Given the description of an element on the screen output the (x, y) to click on. 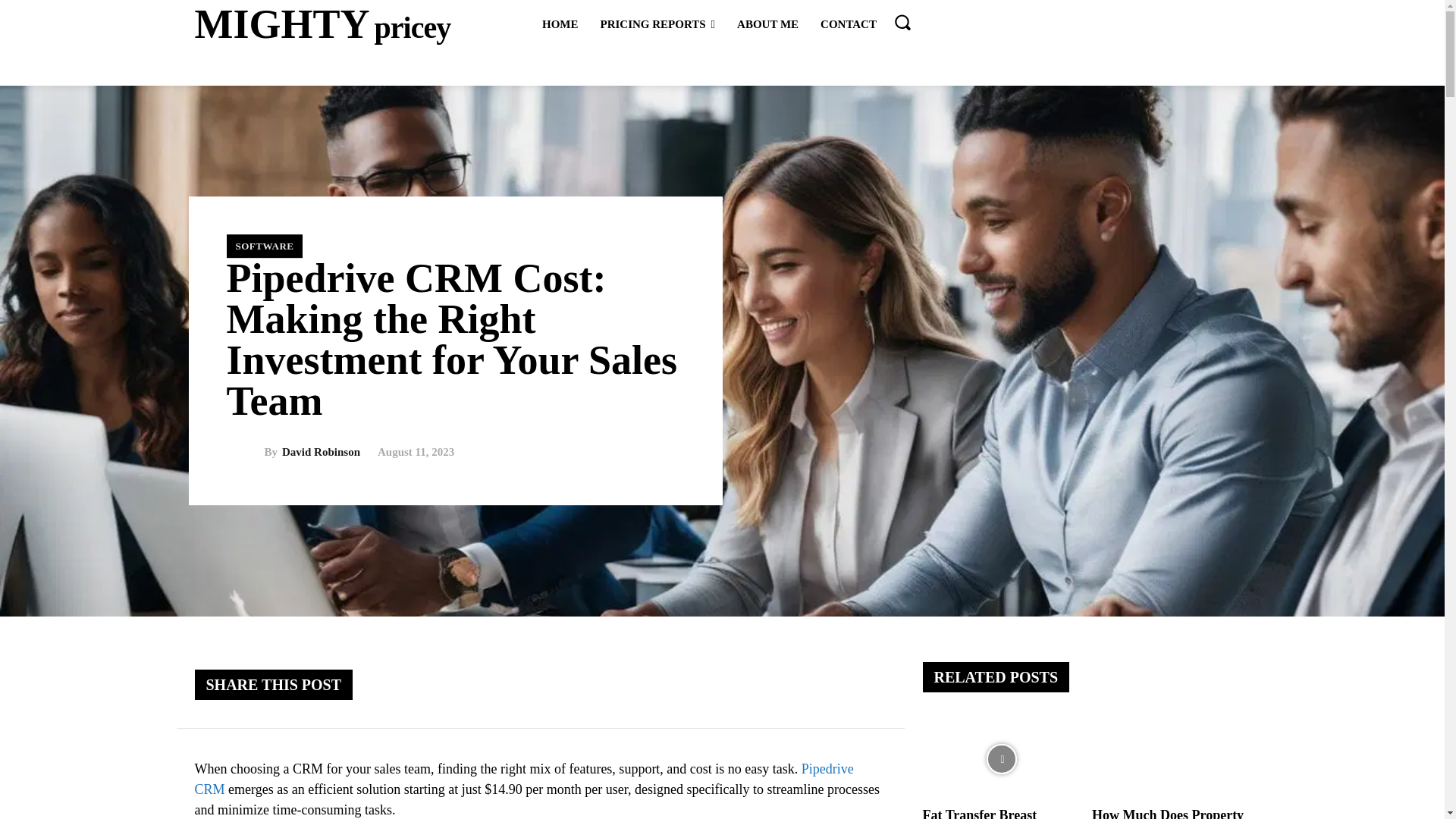
HOME (560, 24)
David Robinson (244, 452)
PRICING REPORTS (321, 24)
